Given the description of an element on the screen output the (x, y) to click on. 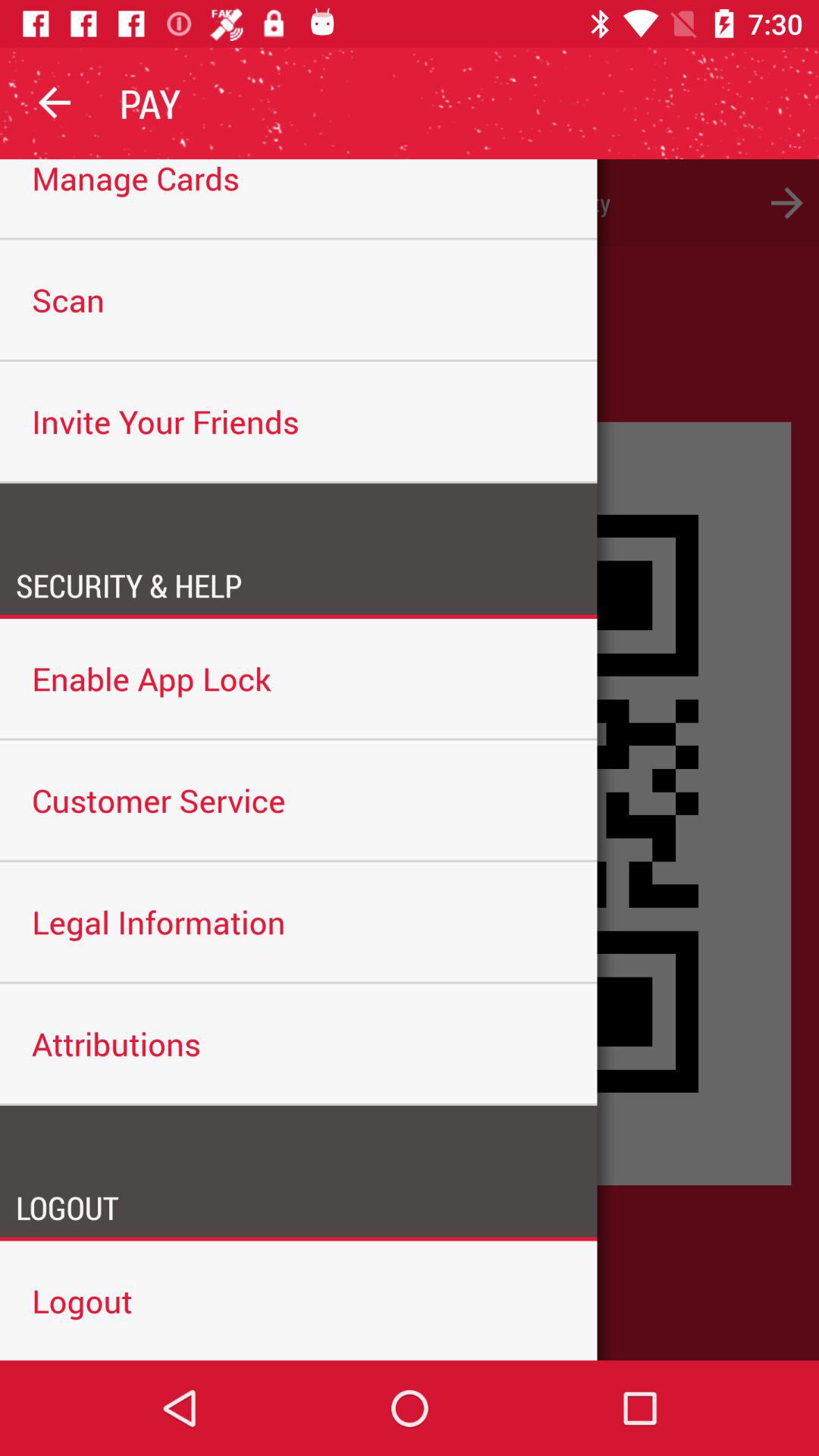
jump to the scan (298, 299)
